Given the description of an element on the screen output the (x, y) to click on. 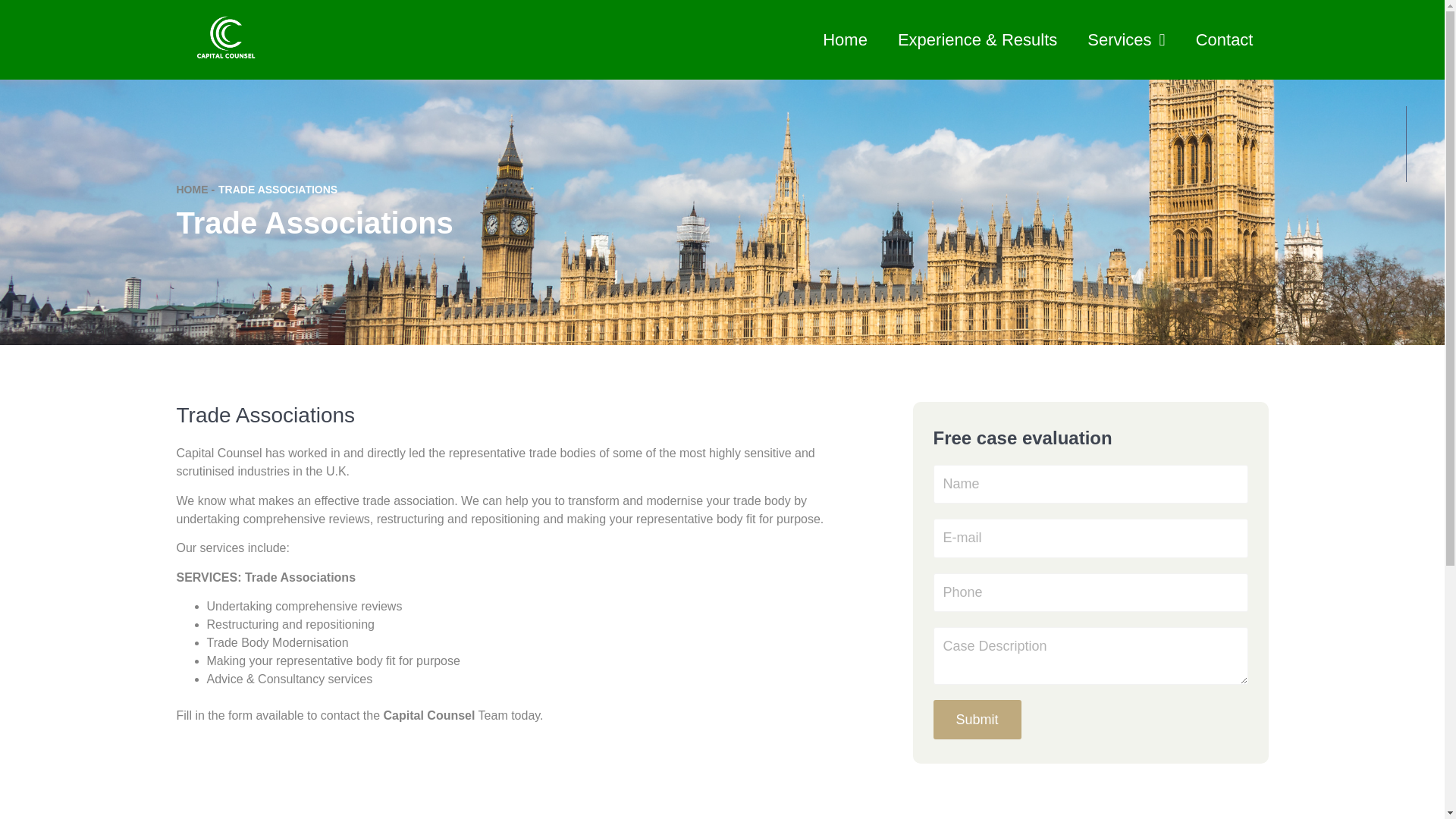
Contact (1224, 39)
CAPITAL COUNSEL (225, 39)
Submit (976, 719)
Services (1125, 39)
Home (845, 39)
